Given the description of an element on the screen output the (x, y) to click on. 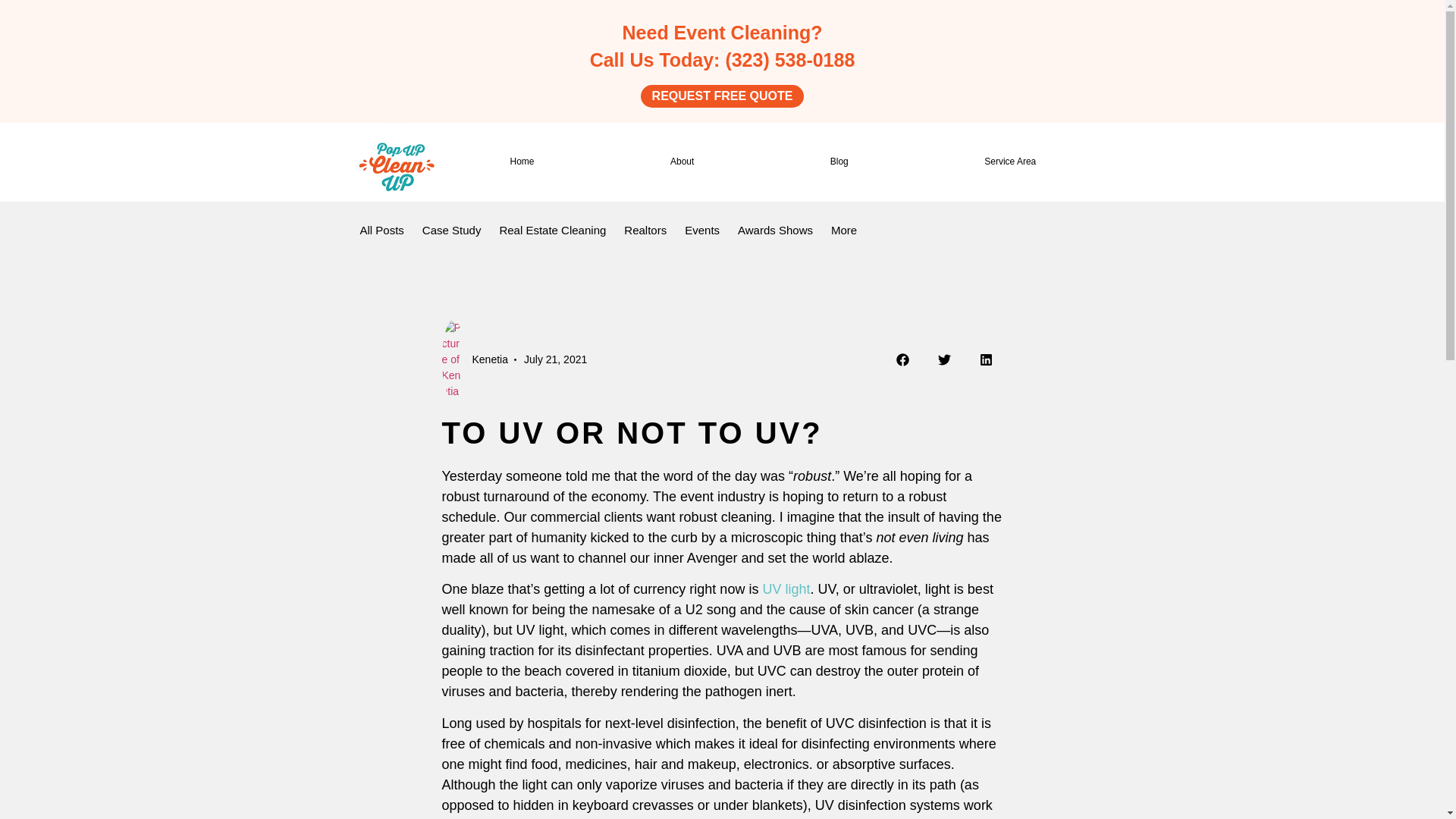
Events (702, 230)
All Posts (381, 230)
Realtors (644, 230)
Service Area (1009, 161)
Blog (839, 161)
Awards Shows (775, 230)
REQUEST FREE QUOTE (722, 96)
About (681, 161)
Real Estate Cleaning (551, 230)
Home (521, 161)
